Given the description of an element on the screen output the (x, y) to click on. 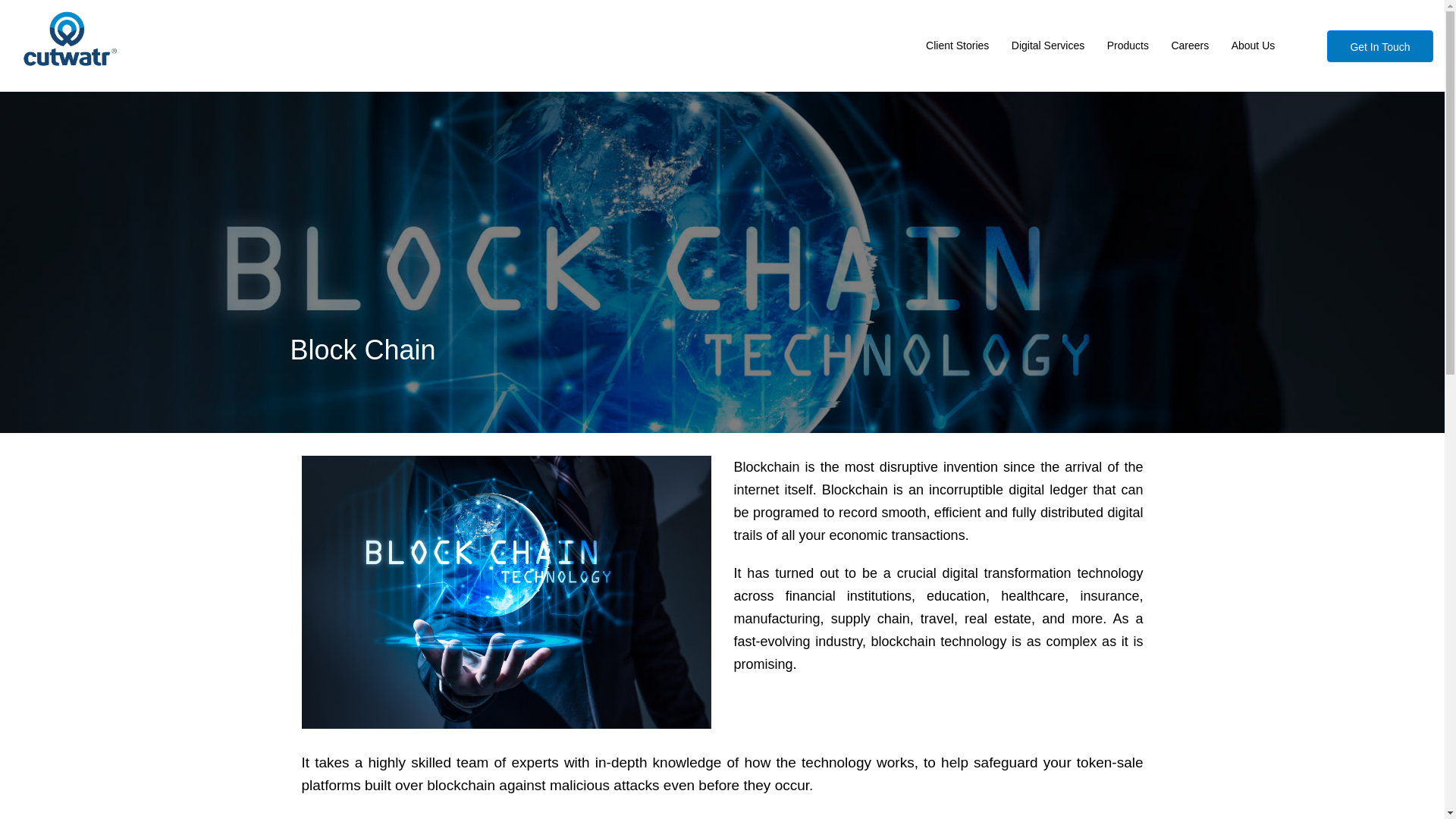
Get In Touch (1379, 46)
